Given the description of an element on the screen output the (x, y) to click on. 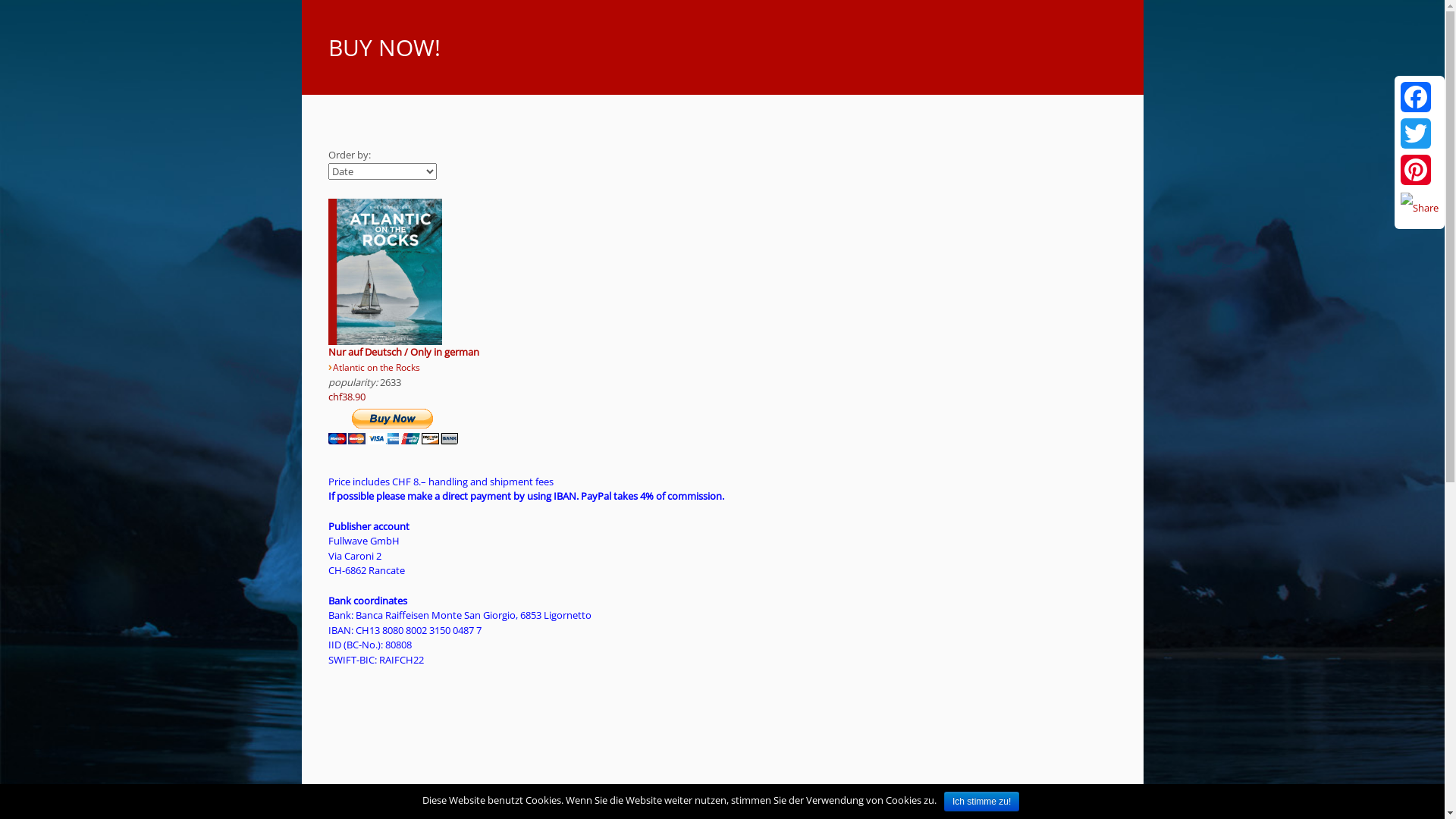
Pinterest Element type: text (1419, 169)
Ich stimme zu! Element type: text (981, 801)
Twitter Element type: text (1419, 133)
Facebook Element type: text (1419, 96)
Atlantic on the Rocks Element type: text (376, 366)
Nur auf Deutsch / Only in german Element type: text (402, 351)
